Given the description of an element on the screen output the (x, y) to click on. 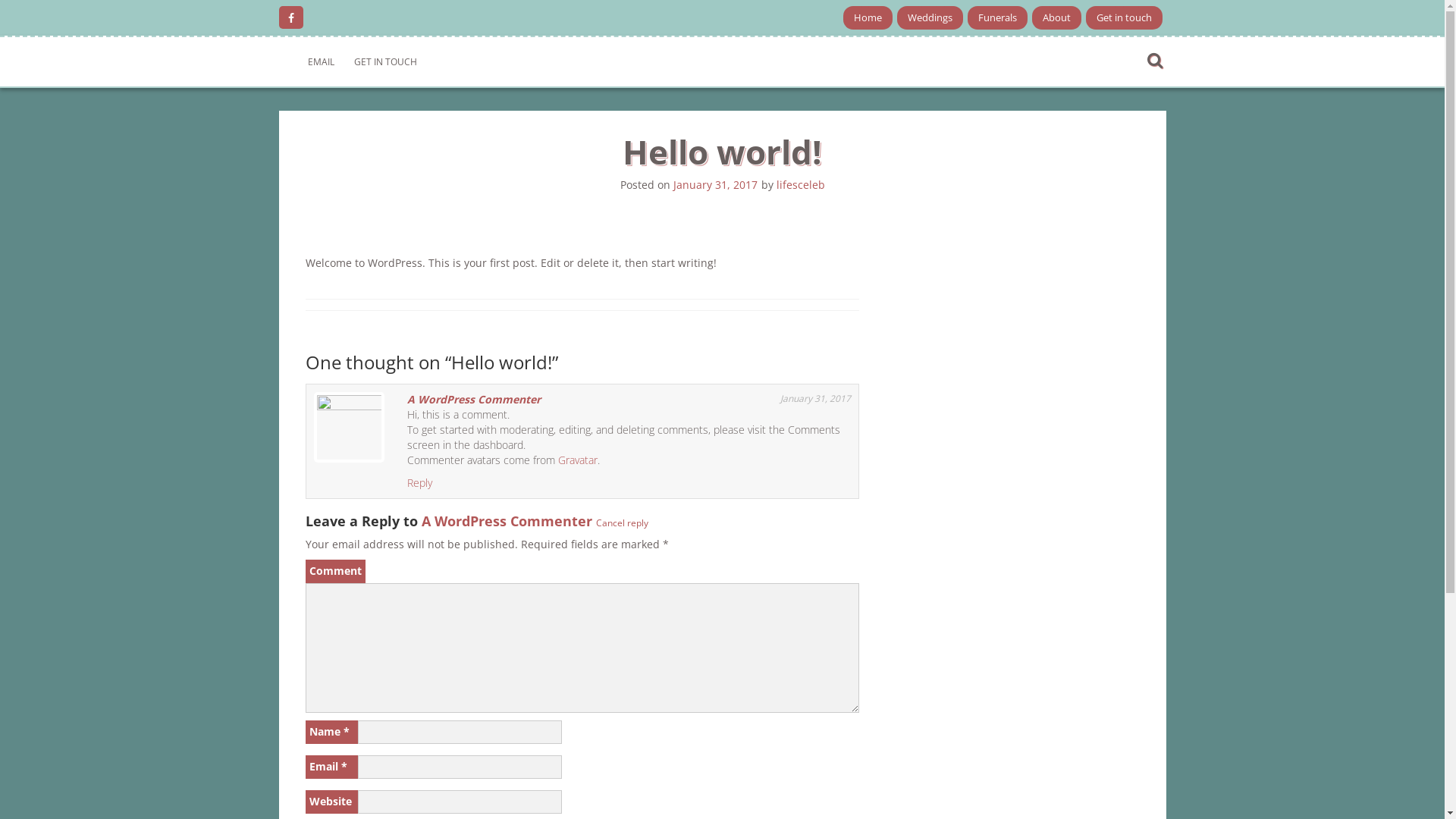
A WordPress Commenter Element type: text (506, 520)
About Element type: text (1055, 17)
Cancel reply Element type: text (622, 522)
EMAIL Element type: text (320, 61)
Gravatar Element type: text (577, 459)
Funerals Element type: text (997, 17)
Reply Element type: text (418, 482)
Home Element type: text (867, 17)
Weddings Element type: text (929, 17)
GET IN TOUCH Element type: text (385, 61)
A WordPress Commenter Element type: text (472, 399)
lifesceleb Element type: text (800, 184)
January 31, 2017 Element type: text (715, 184)
Get in touch Element type: text (1123, 17)
